Given the description of an element on the screen output the (x, y) to click on. 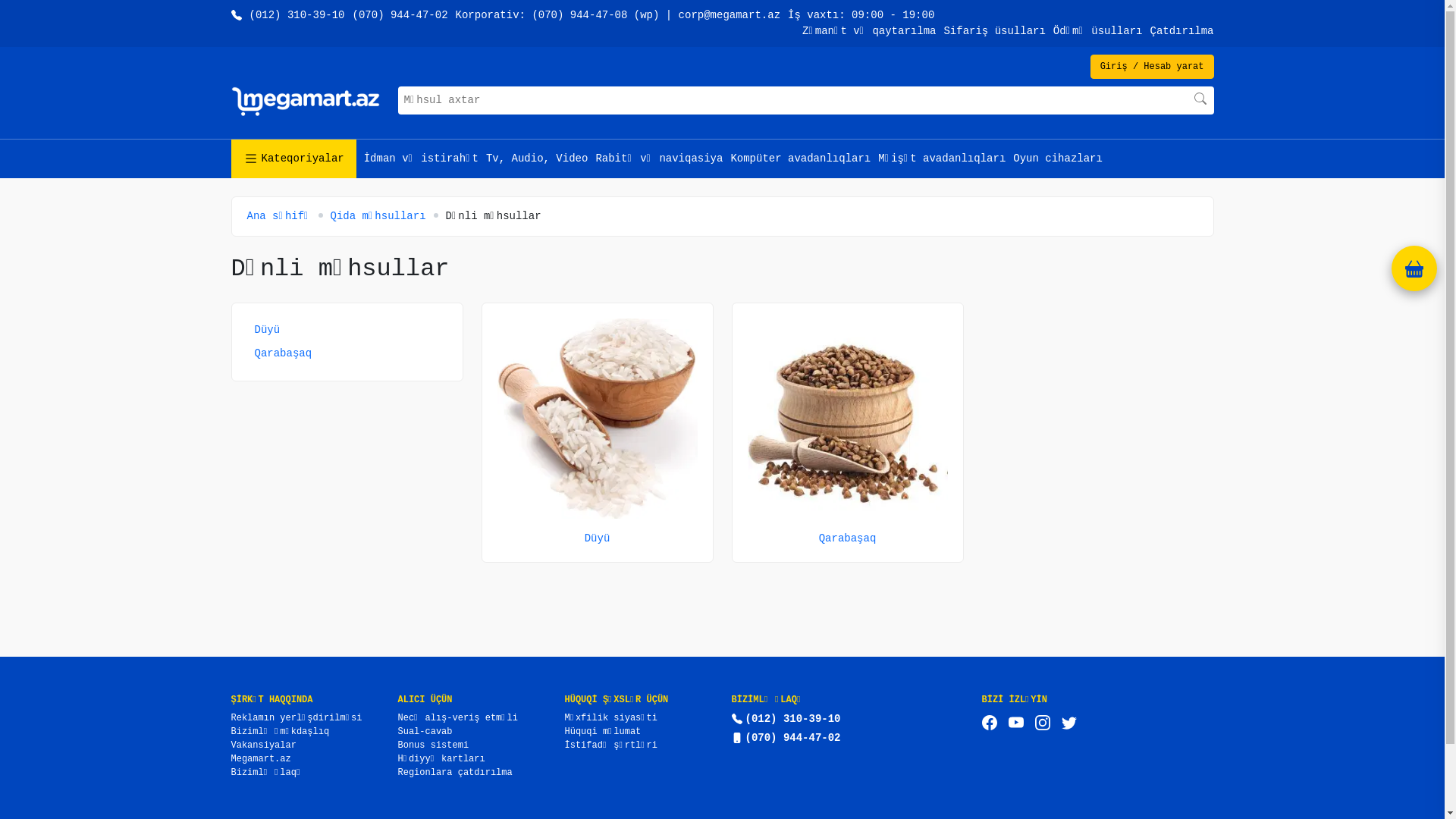
Bonus sistemi Element type: text (432, 745)
Tv, Audio, Video Element type: text (536, 158)
Megamart.az Element type: text (260, 758)
Sual-cavab Element type: text (424, 731)
Vakansiyalar Element type: text (262, 745)
